Given the description of an element on the screen output the (x, y) to click on. 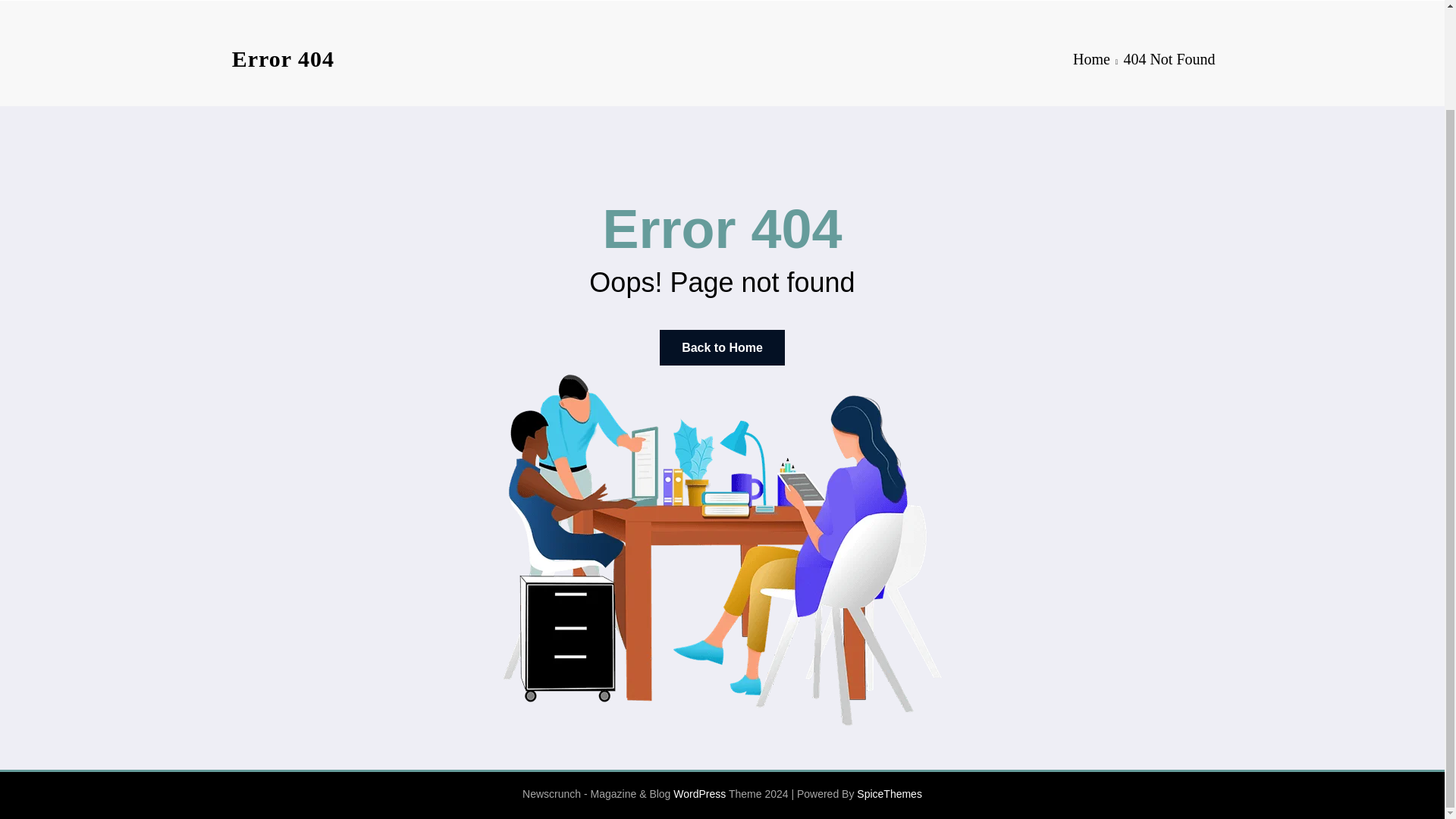
Back to Home (721, 347)
Back to Home (721, 347)
Home (1091, 58)
WordPress (698, 793)
SpiceThemes (889, 793)
